Given the description of an element on the screen output the (x, y) to click on. 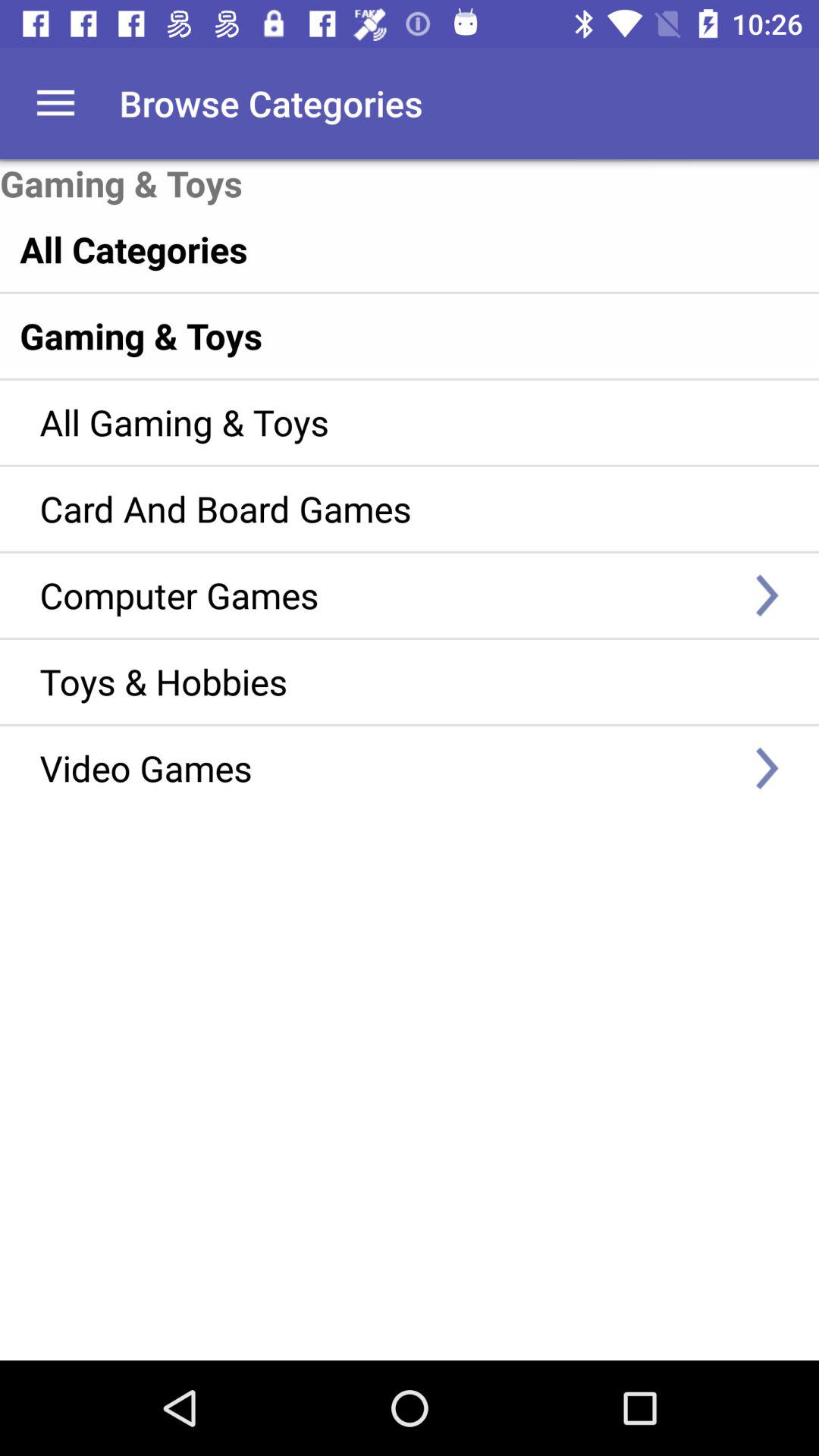
settings (55, 103)
